Given the description of an element on the screen output the (x, y) to click on. 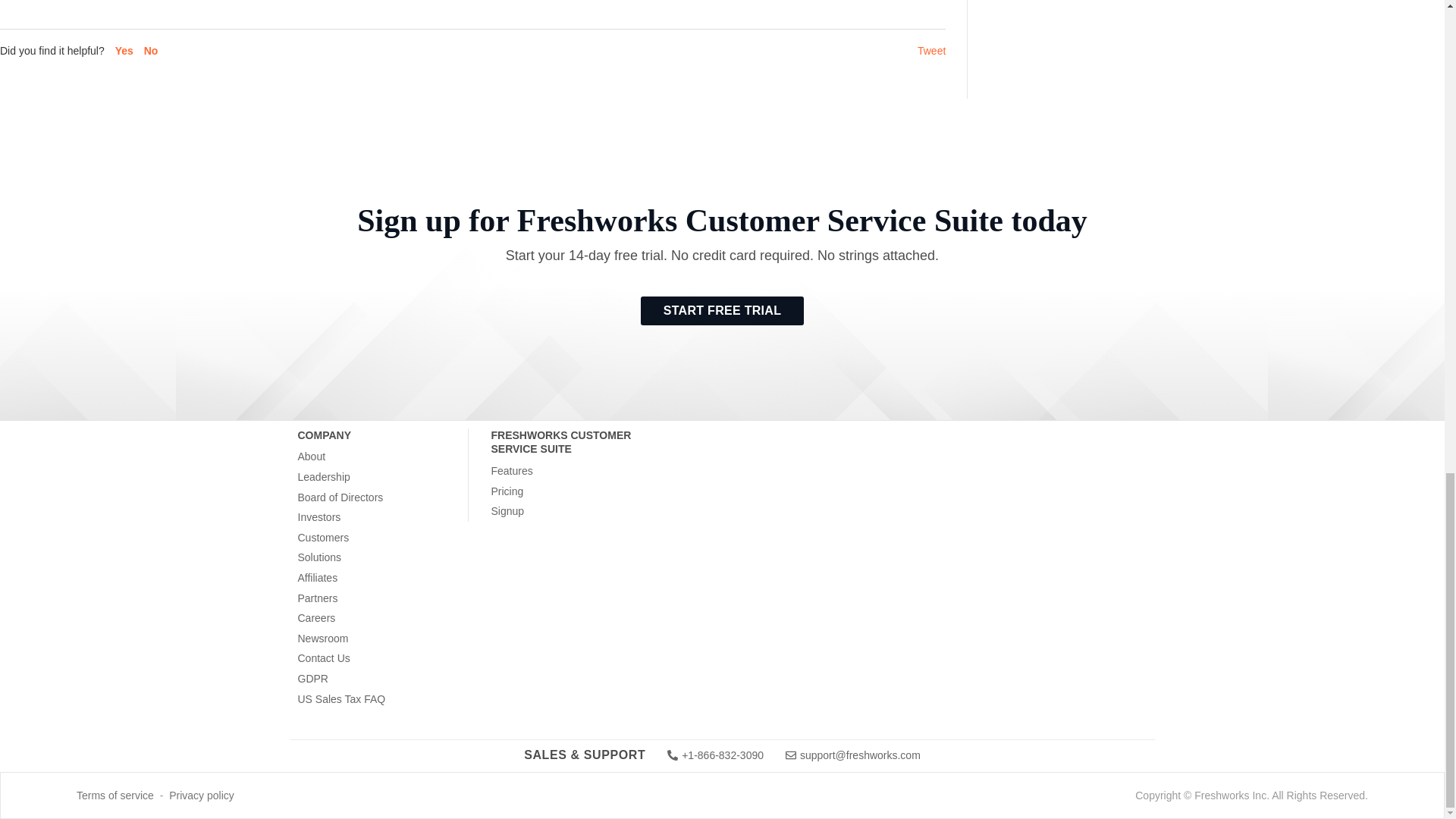
Investors (318, 517)
COMPANY (382, 437)
Leadership (323, 477)
Customers (323, 538)
About (310, 457)
Tweet (930, 50)
Board of Directors (339, 498)
START FREE TRIAL (722, 310)
